Given the description of an element on the screen output the (x, y) to click on. 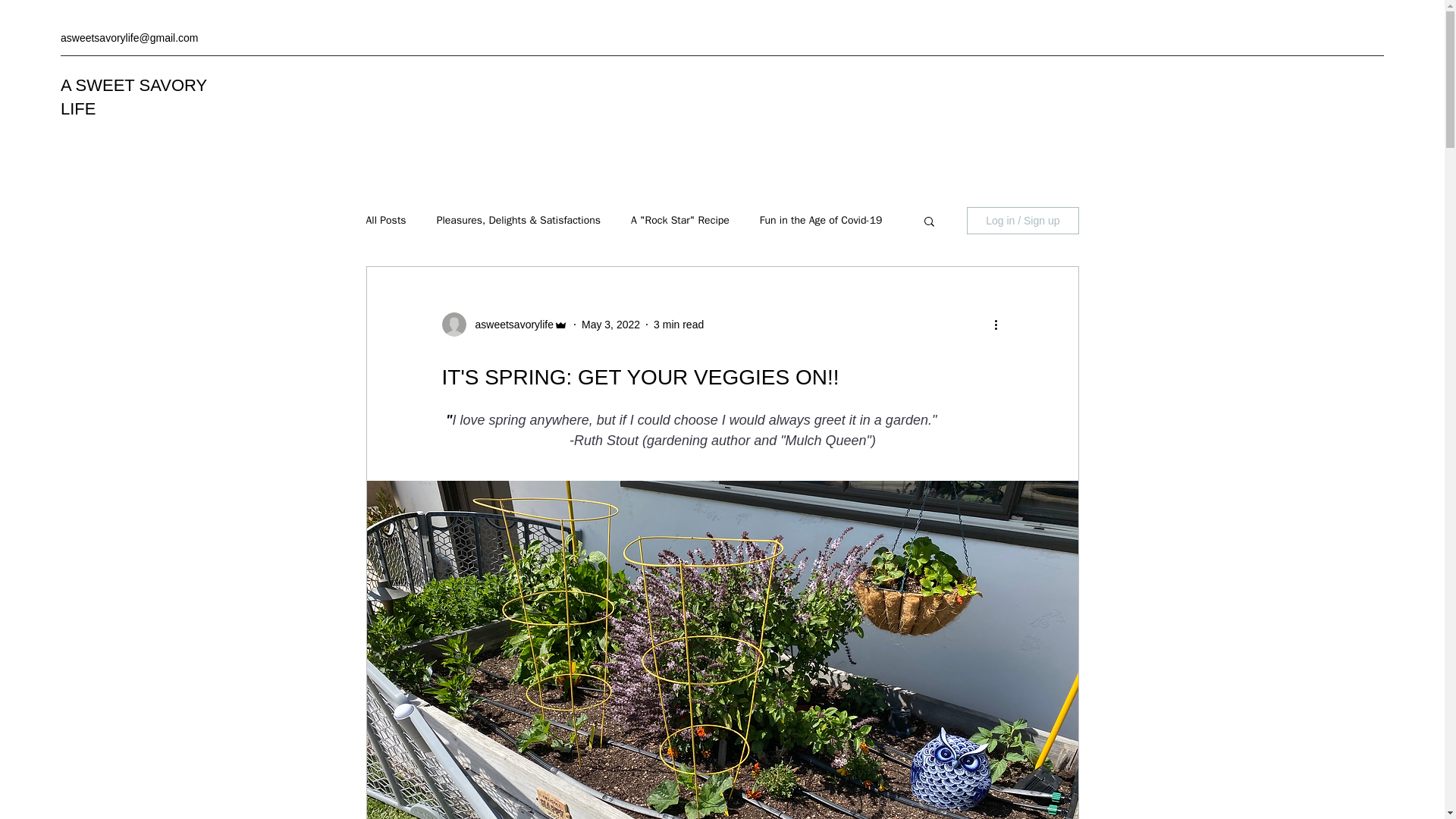
May 3, 2022 (610, 324)
A "Rock Star" Recipe (679, 220)
All Posts (385, 220)
Fun in the Age of Covid-19 (821, 220)
A SWEET SAVORY LIFE (133, 96)
3 min read (678, 324)
asweetsavorylife (509, 324)
